Given the description of an element on the screen output the (x, y) to click on. 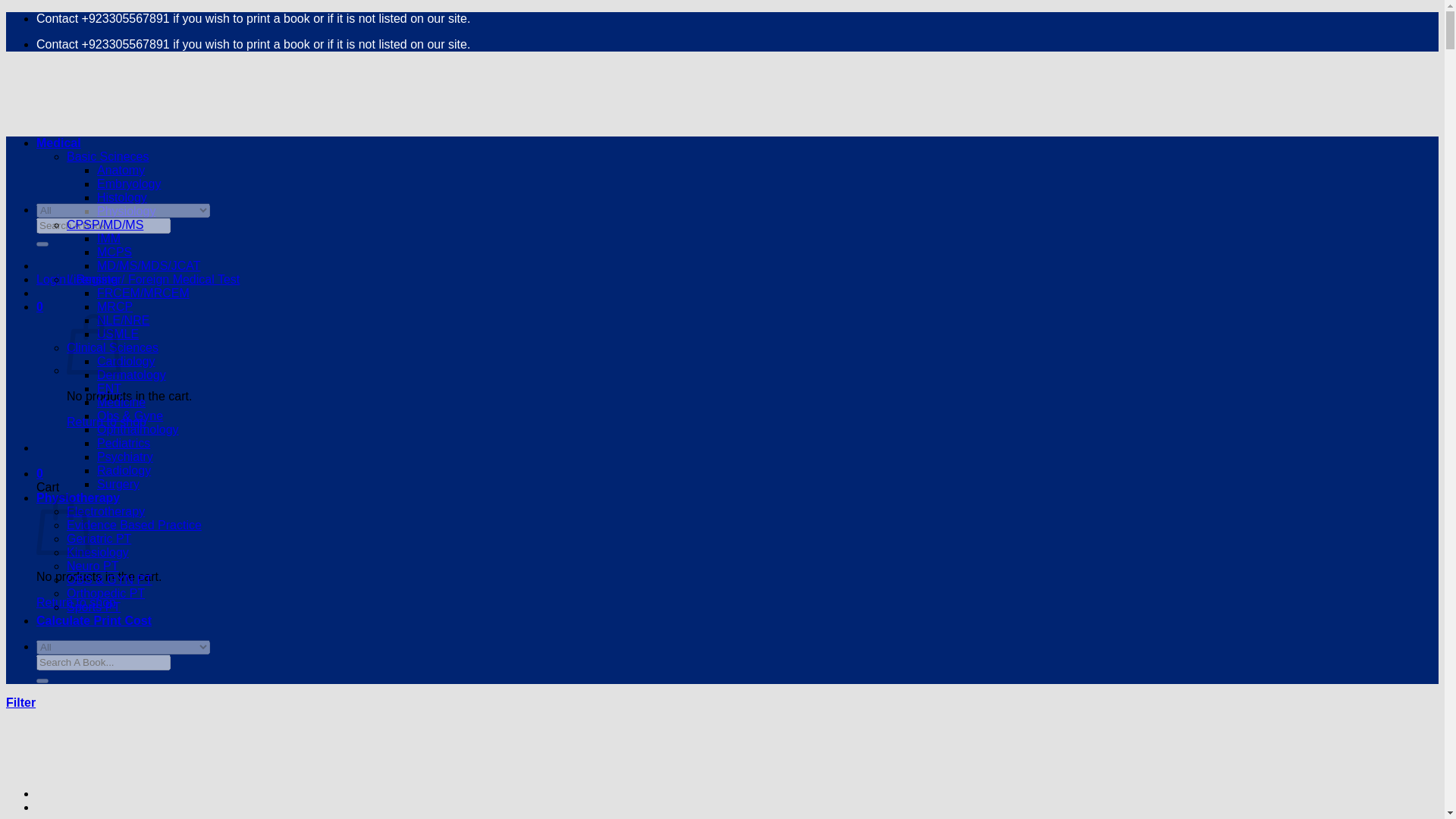
Evidence Based Practice (134, 524)
Electrotherapy (105, 511)
ENT (108, 388)
Clinical Sciences (112, 347)
Ophthalmology (138, 429)
Radiology (124, 470)
Anatomy (120, 169)
MCPS (114, 251)
Basic Scineces (107, 155)
Search (42, 243)
Surgery (118, 483)
Medical (58, 142)
Pediatrics (123, 442)
Dermatology (131, 374)
Histology (122, 196)
